Given the description of an element on the screen output the (x, y) to click on. 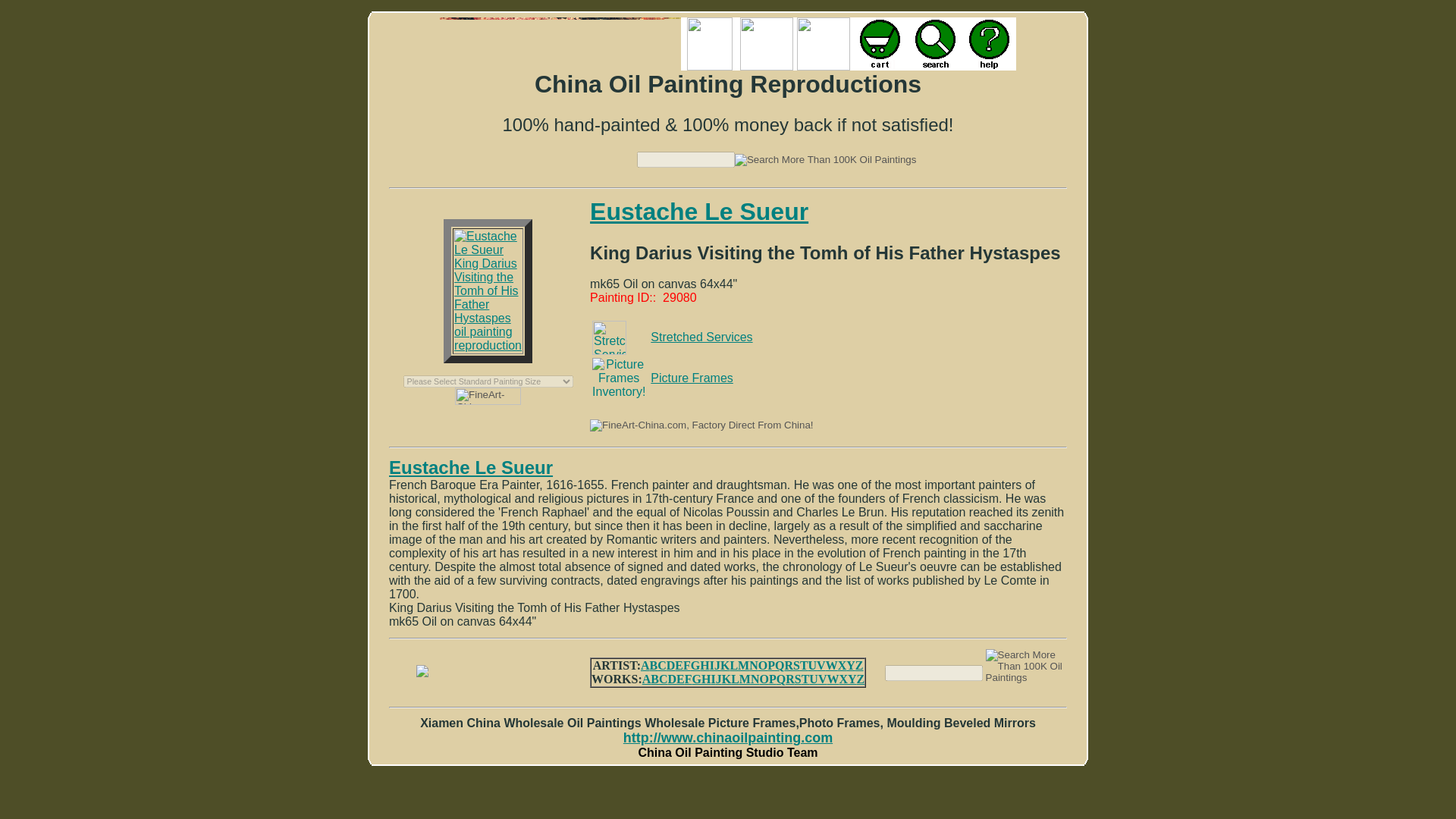
Eustache Le Sueur (470, 467)
Picture Frames (691, 377)
Stretched Services (701, 336)
Eustache Le Sueur (698, 211)
W (831, 665)
